Given the description of an element on the screen output the (x, y) to click on. 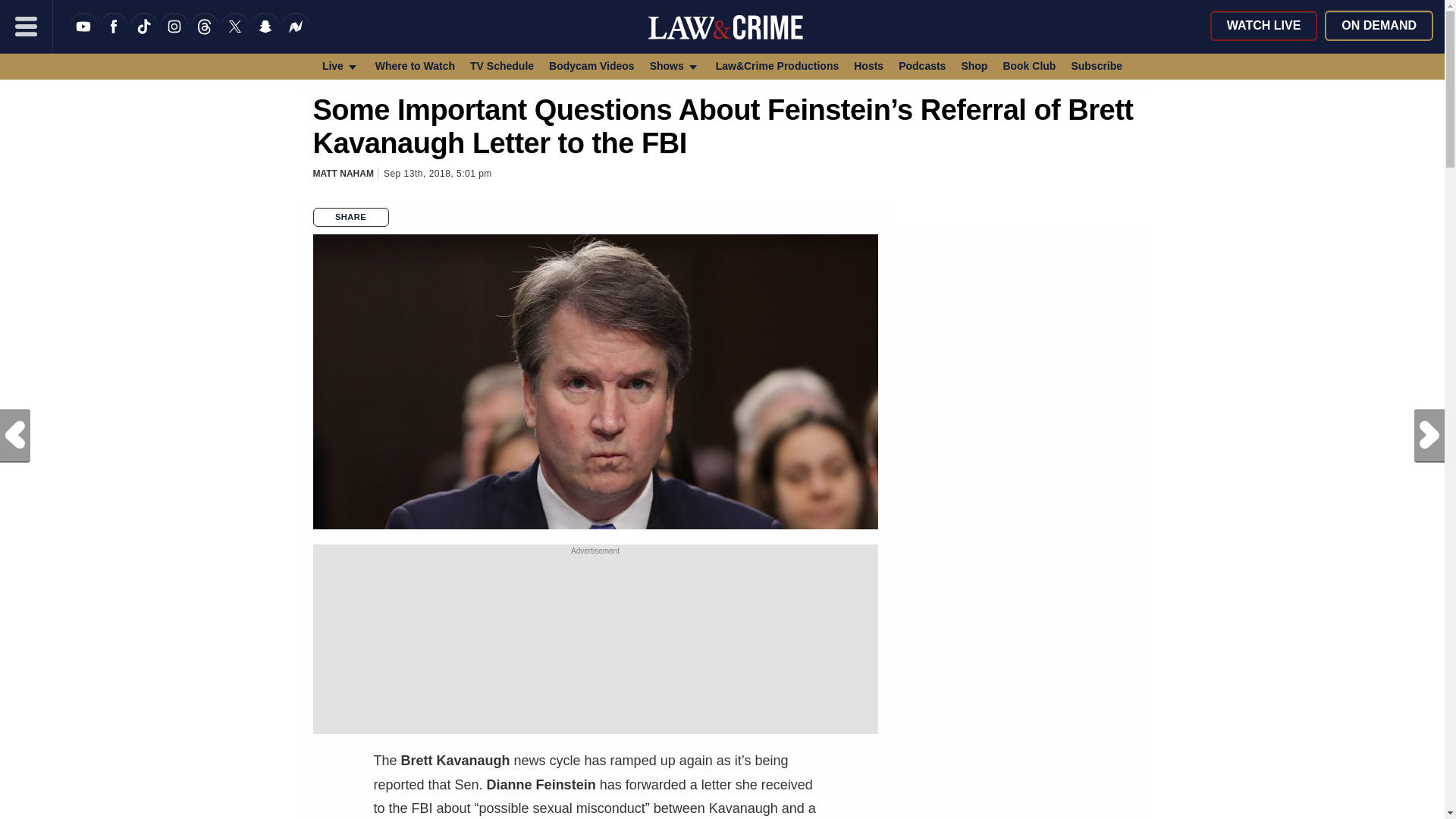
YouTube (83, 35)
Snapchat (265, 35)
News Break (295, 35)
Like us on Facebook (114, 35)
Threads (204, 35)
Posts by Matt Naham (342, 173)
TikTok (144, 35)
Instagram (173, 35)
